Given the description of an element on the screen output the (x, y) to click on. 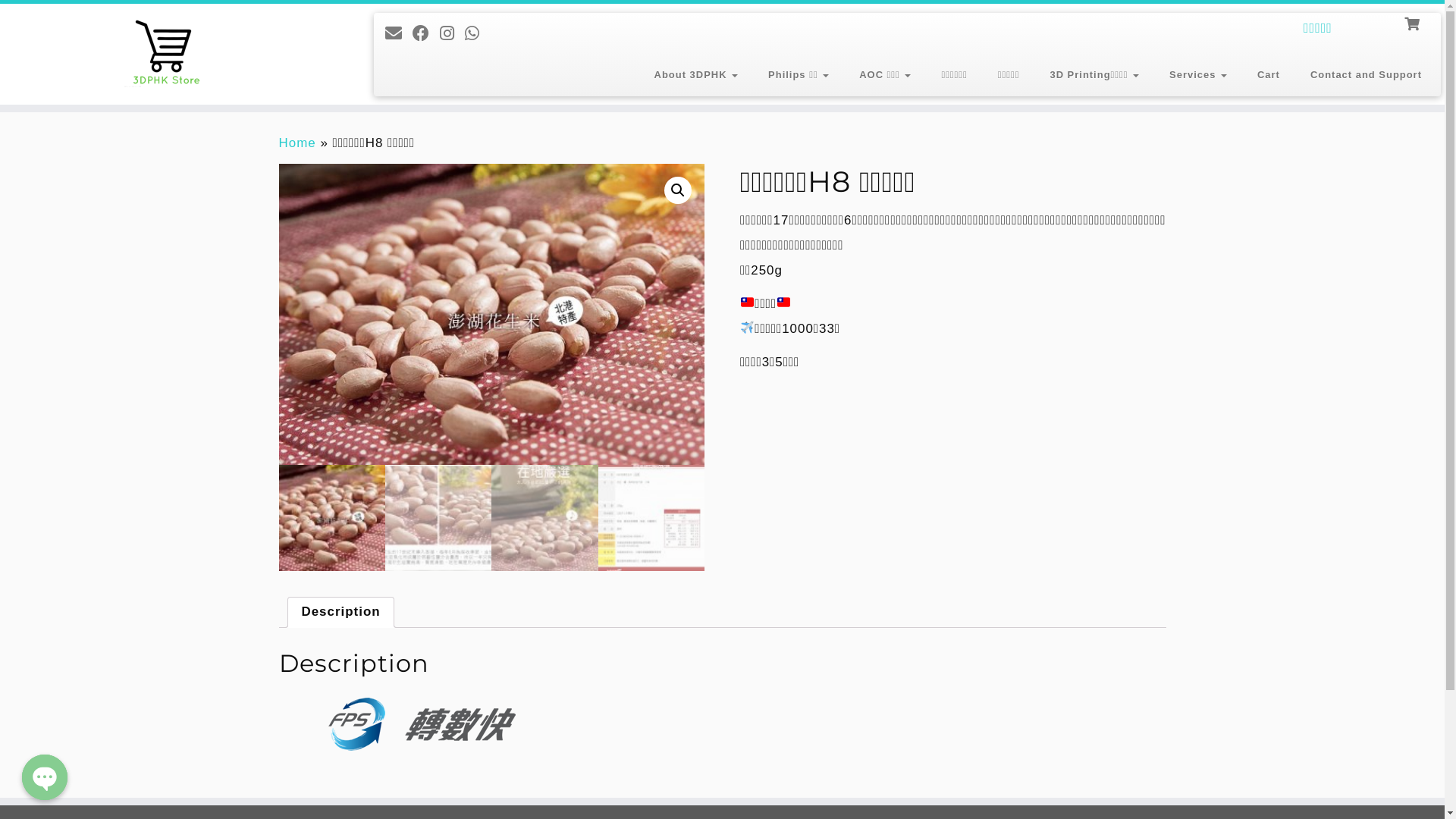
Contact and Support Element type: text (1358, 75)
View your shopping cart Element type: hover (1412, 22)
About 3DPHK Element type: text (696, 75)
E-mail Element type: hover (398, 33)
Services Element type: text (1198, 75)
Follow me on Facebook Element type: hover (425, 33)
Home Element type: text (297, 142)
Skip to content Element type: text (0, 112)
Follow me on Instagram Element type: hover (451, 33)
Follow us on Whatsapp Element type: hover (476, 33)
Description Element type: text (340, 612)
Cart Element type: text (1268, 75)
A396452C-1B6A-4346-9703-B612D2B99225 Element type: hover (492, 313)
